Given the description of an element on the screen output the (x, y) to click on. 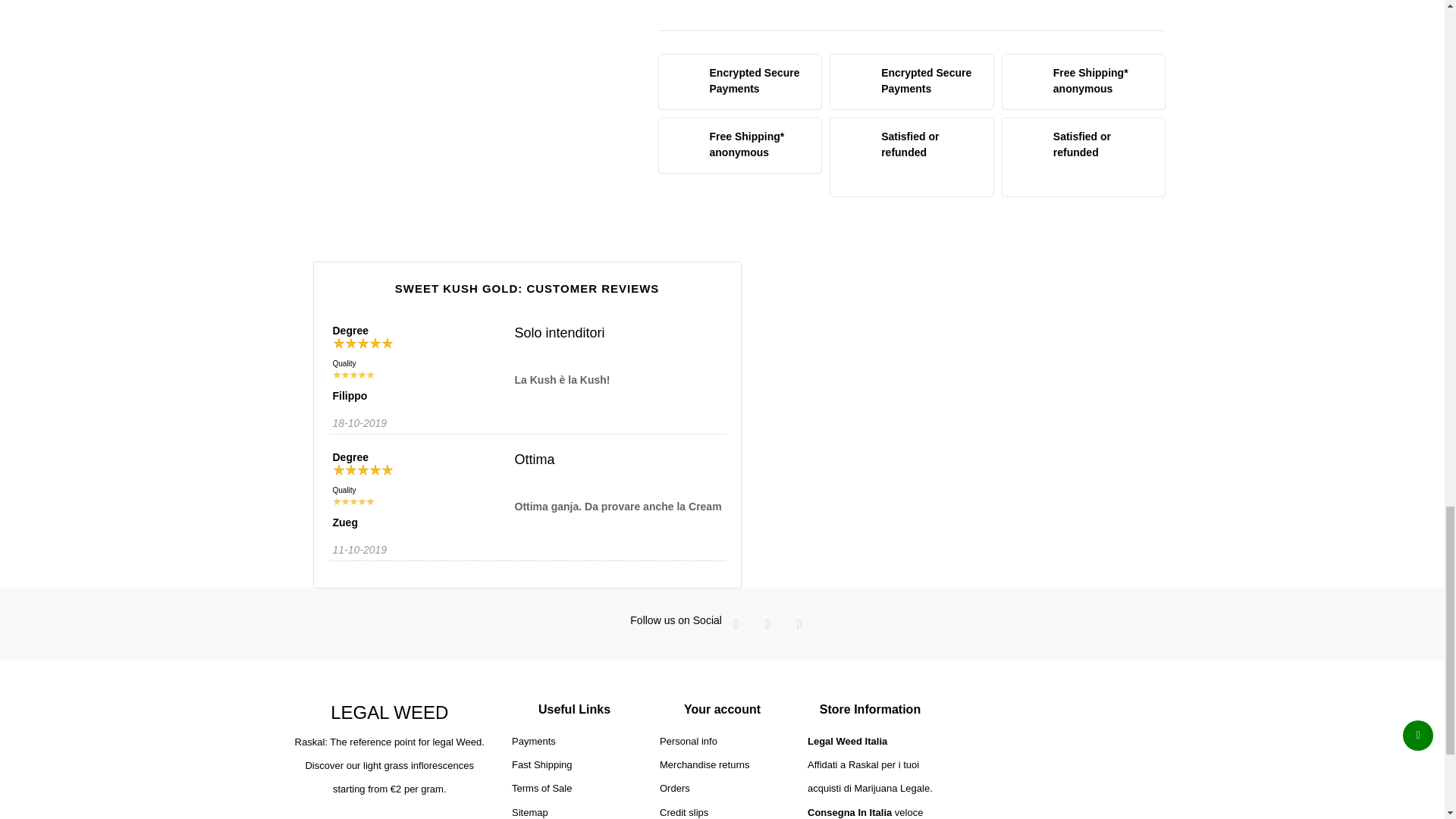
Encrypted Secure Payments (740, 81)
Satisfied or refunded (911, 157)
Satisfied or refunded (1083, 157)
Encrypted Secure Payments (911, 81)
